Given the description of an element on the screen output the (x, y) to click on. 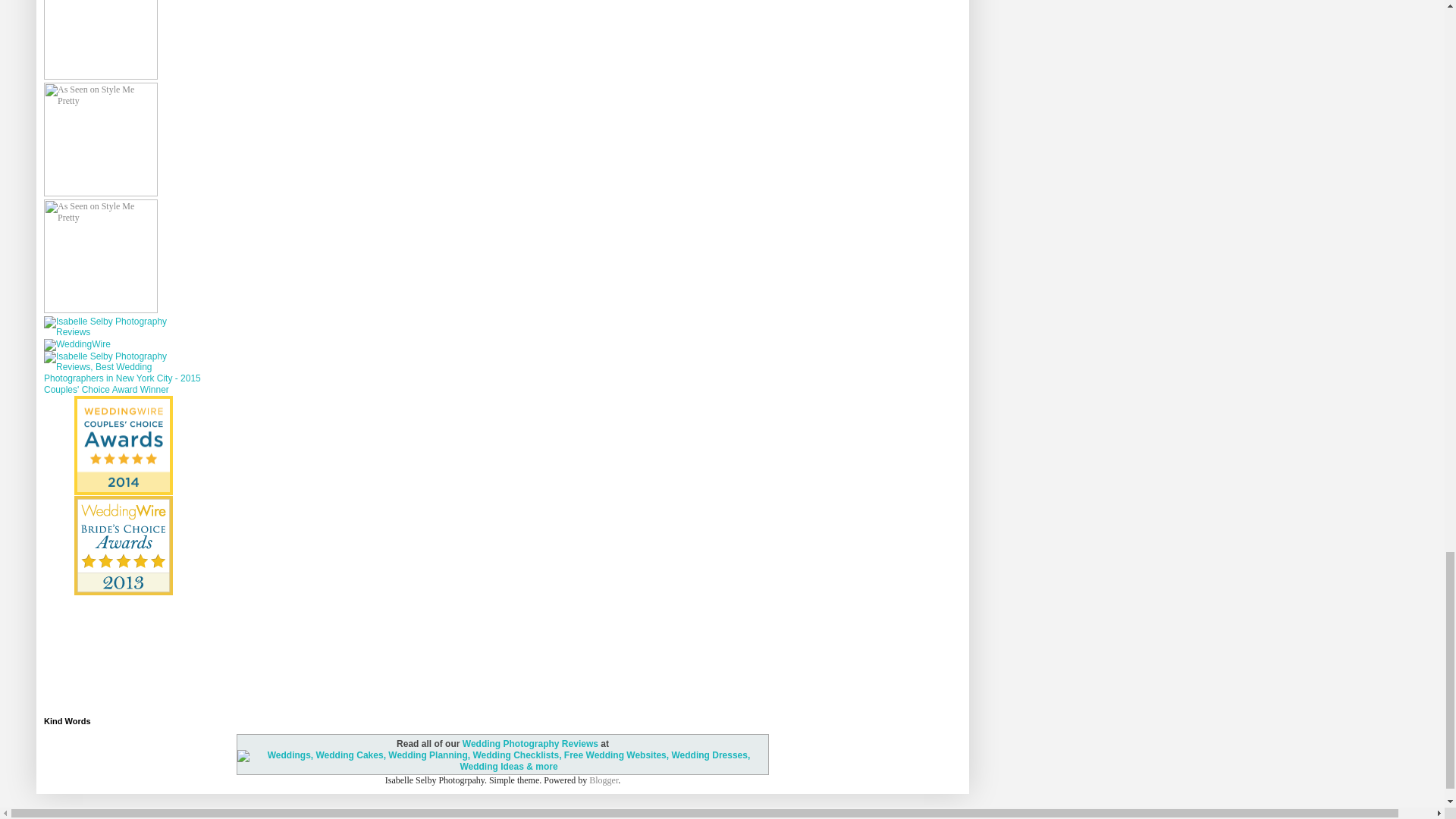
As Seen on Style Me Pretty (100, 39)
As Seen on Style Me Pretty (100, 139)
As Seen on Style Me Pretty (100, 255)
Isabelle Selby Photography Reviews (123, 331)
